Given the description of an element on the screen output the (x, y) to click on. 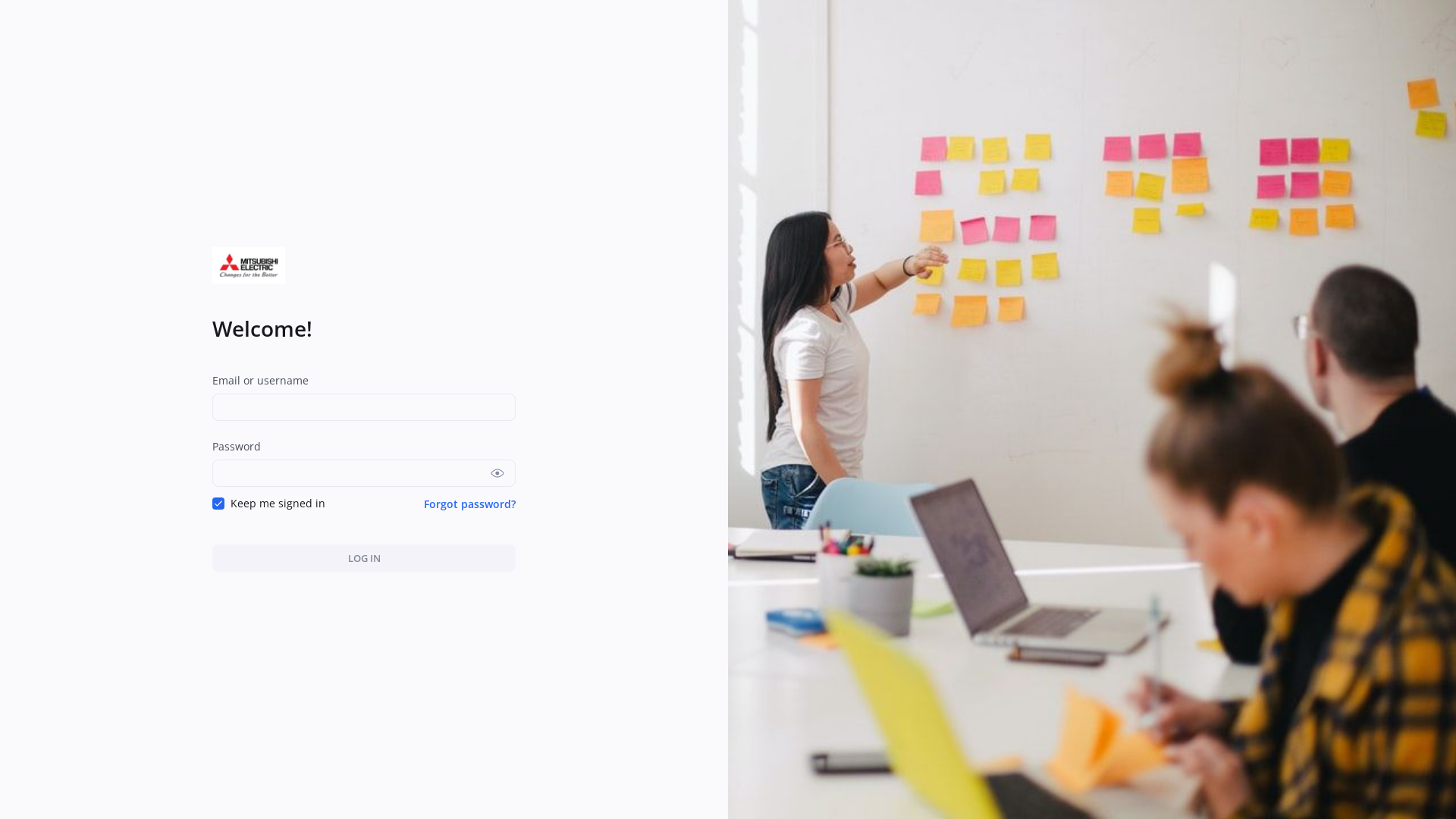
Forgot password? Element type: text (469, 502)
LOG IN Element type: text (363, 557)
